Given the description of an element on the screen output the (x, y) to click on. 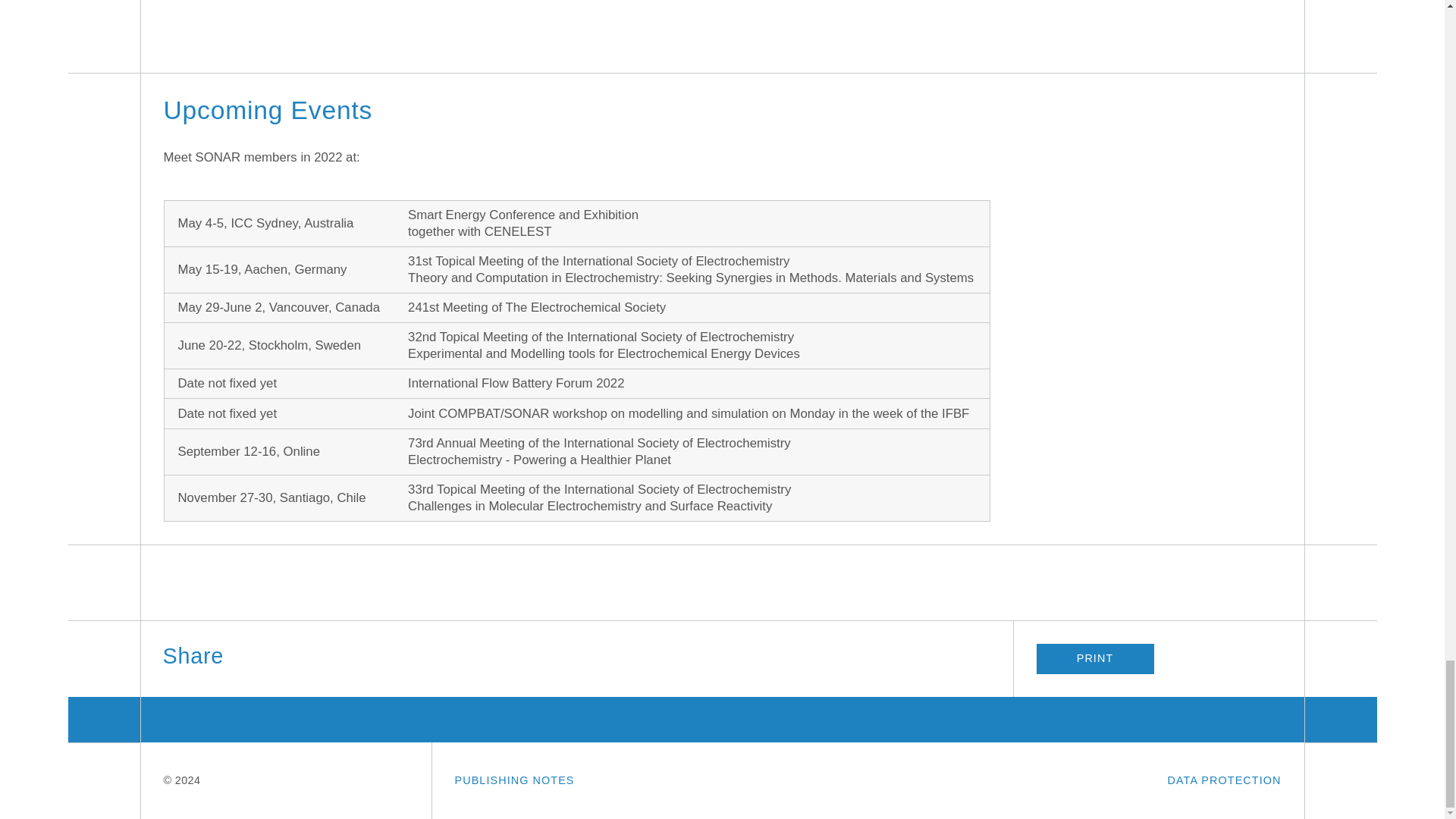
PUBLISHING NOTES (514, 780)
PRINT (1094, 658)
DATA PROTECTION (1224, 780)
